Given the description of an element on the screen output the (x, y) to click on. 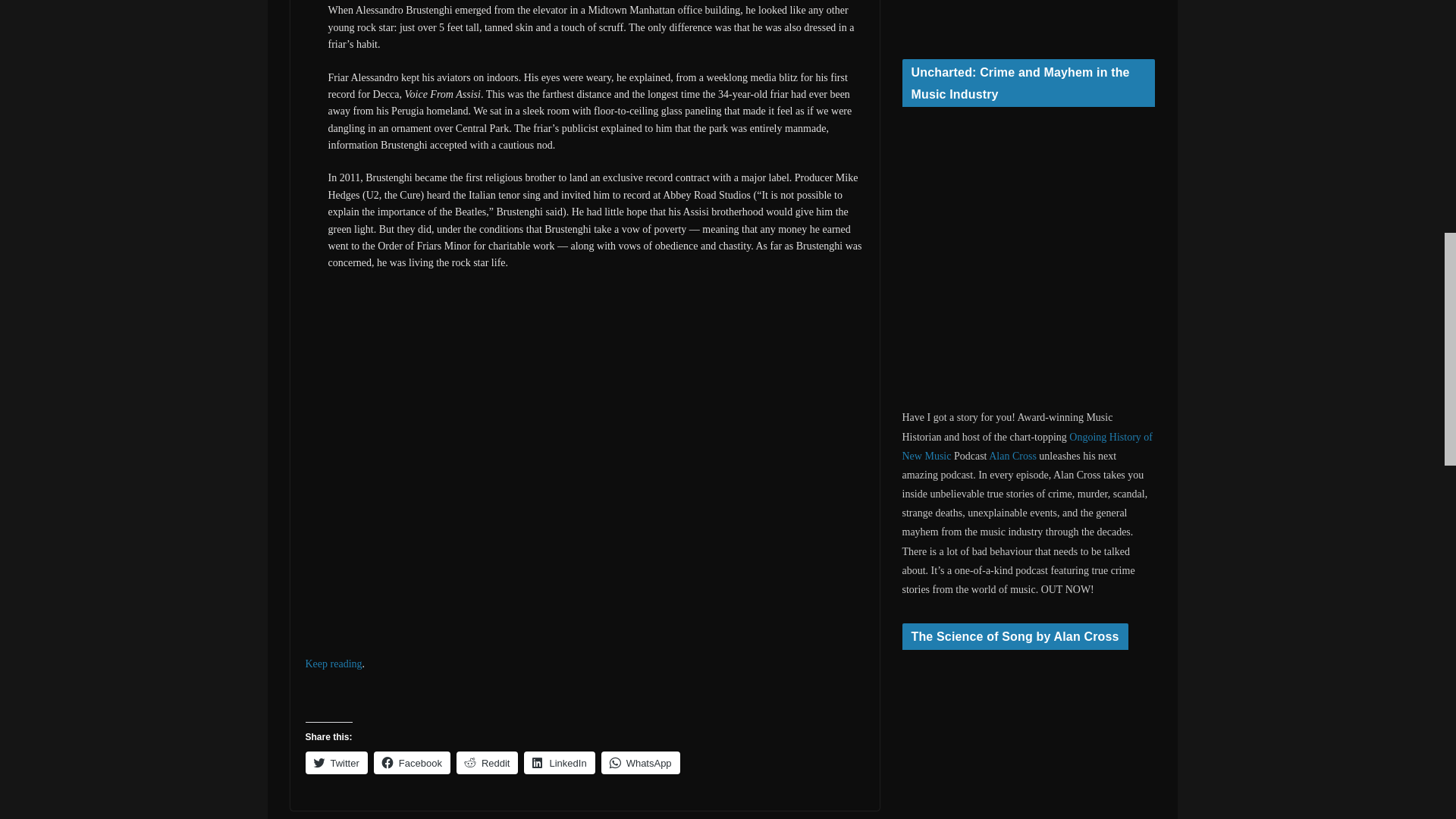
Click to share on Reddit (487, 762)
Keep reading (332, 663)
Click to share on Facebook (411, 762)
Twitter (335, 762)
WhatsApp (640, 762)
Reddit (487, 762)
Click to share on LinkedIn (559, 762)
Facebook (411, 762)
Click to share on WhatsApp (640, 762)
LinkedIn (559, 762)
